Given the description of an element on the screen output the (x, y) to click on. 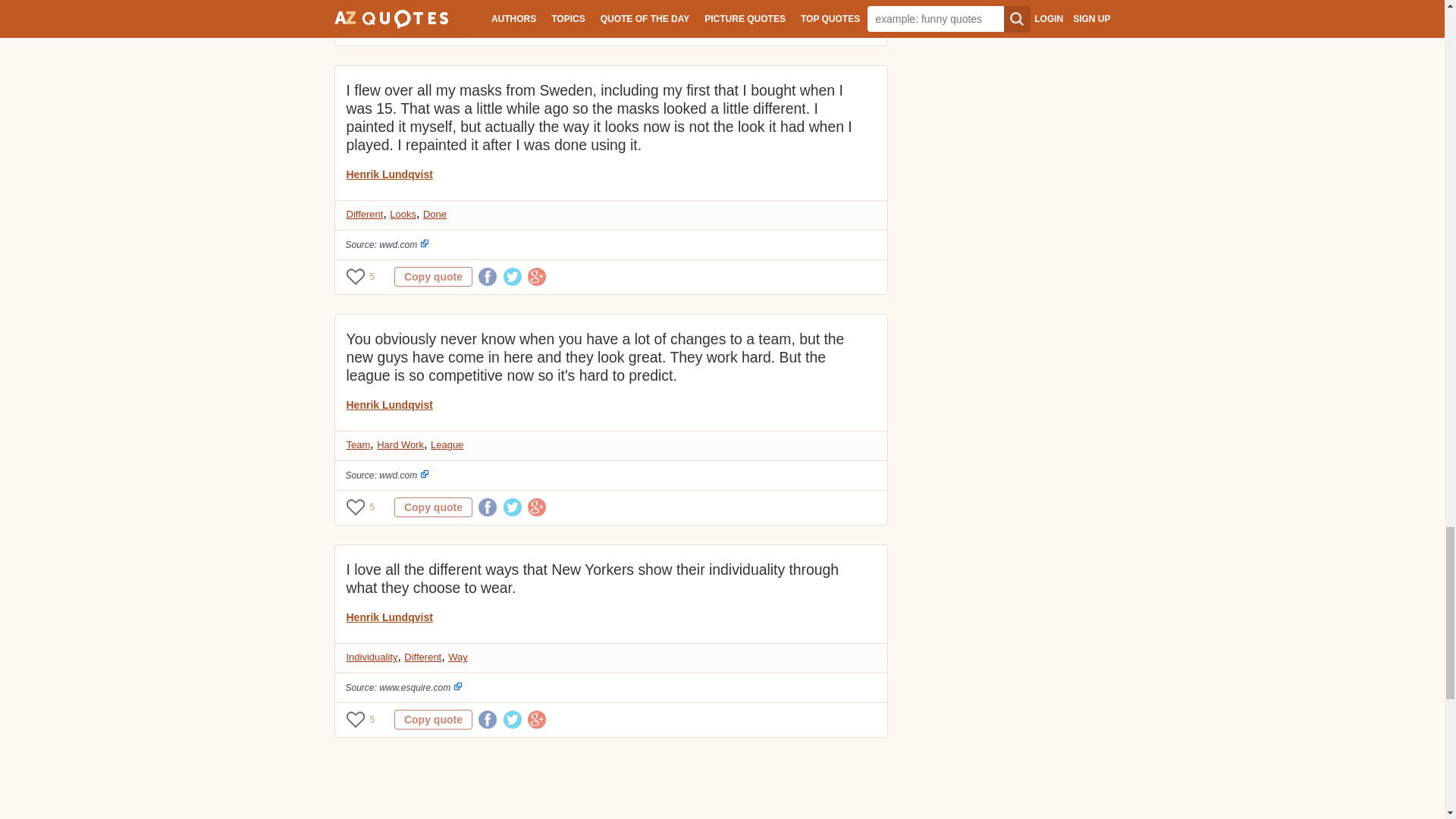
Quote is copied (432, 719)
Advertisement (609, 787)
Quote is copied (432, 27)
Quote is copied (432, 276)
Quote is copied (432, 506)
